Given the description of an element on the screen output the (x, y) to click on. 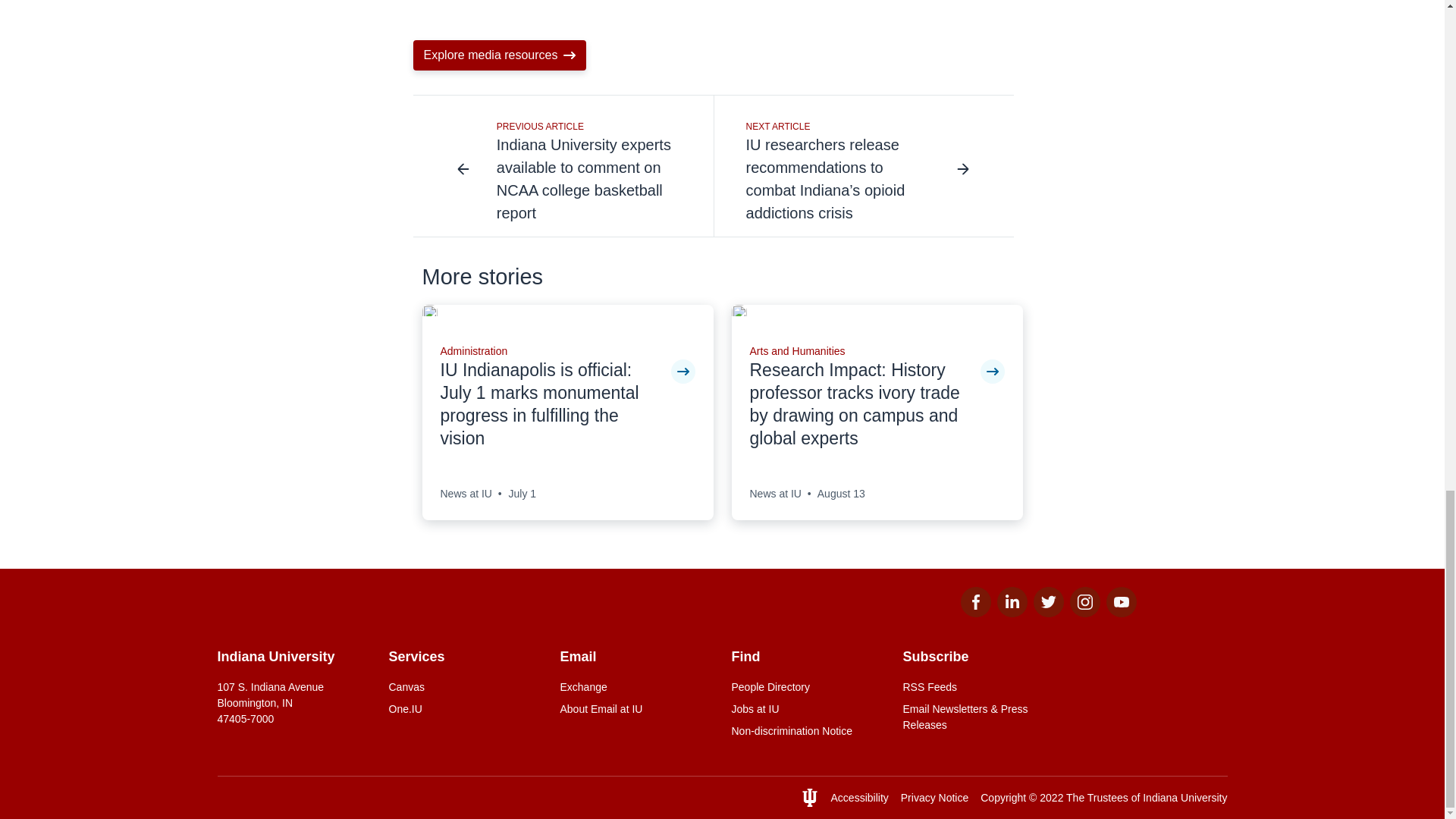
Youtube for IU (1120, 612)
Privacy Notice (934, 797)
Non-discrimination Notice (806, 731)
About Email at IU (636, 709)
Jobs at IU (806, 709)
Accessibility (859, 797)
Copyright (1002, 797)
Linkedin for IU (1010, 612)
Facebook for IU (974, 612)
